Given the description of an element on the screen output the (x, y) to click on. 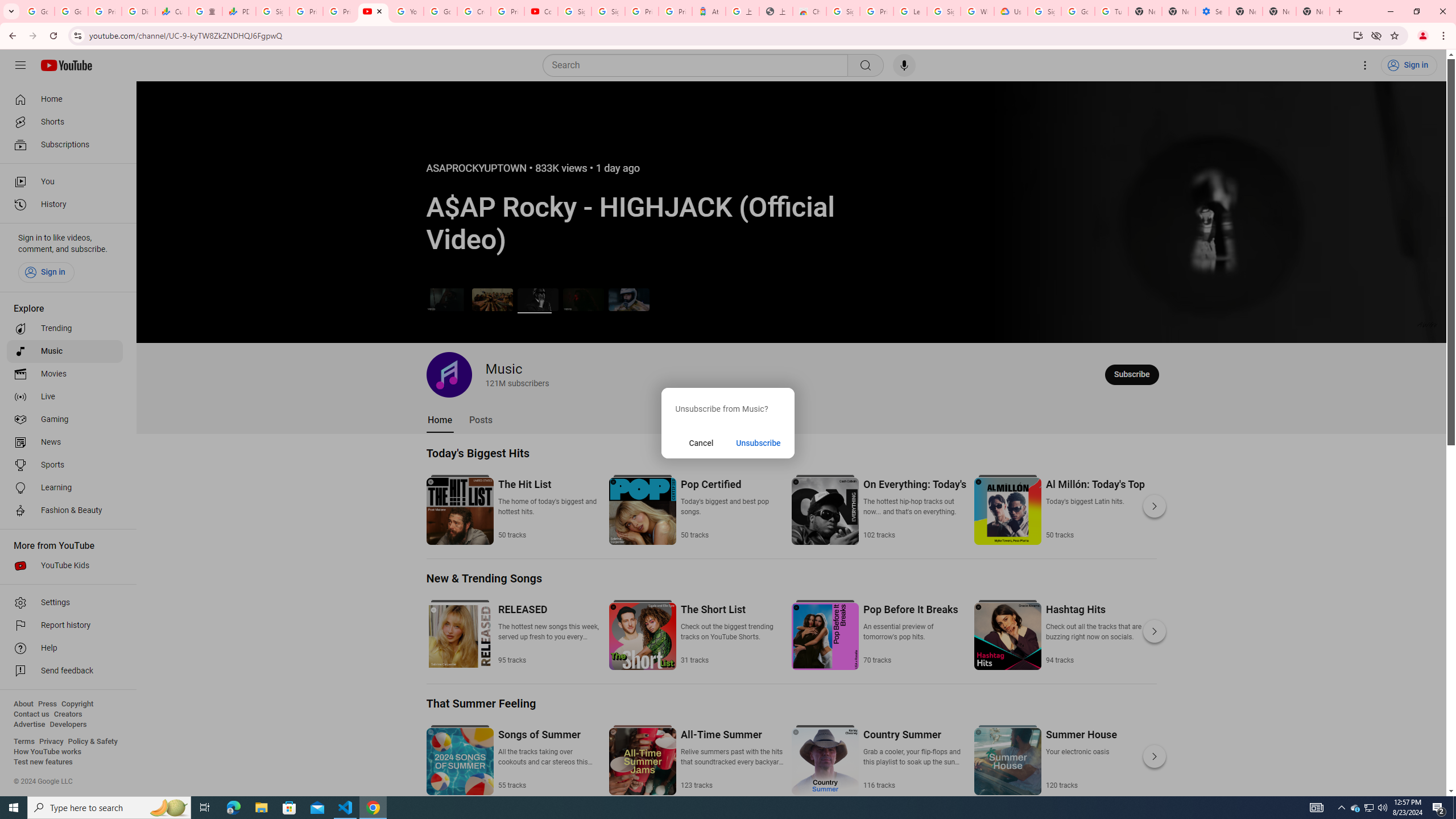
Google Account Help (1077, 11)
New Tab (1246, 11)
Sign in - Google Accounts (608, 11)
Fashion & Beauty (64, 510)
Create your Google Account (474, 11)
Channel watermark (1427, 324)
Policy & Safety (91, 741)
Learning (64, 487)
Google Workspace Admin Community (37, 11)
